Given the description of an element on the screen output the (x, y) to click on. 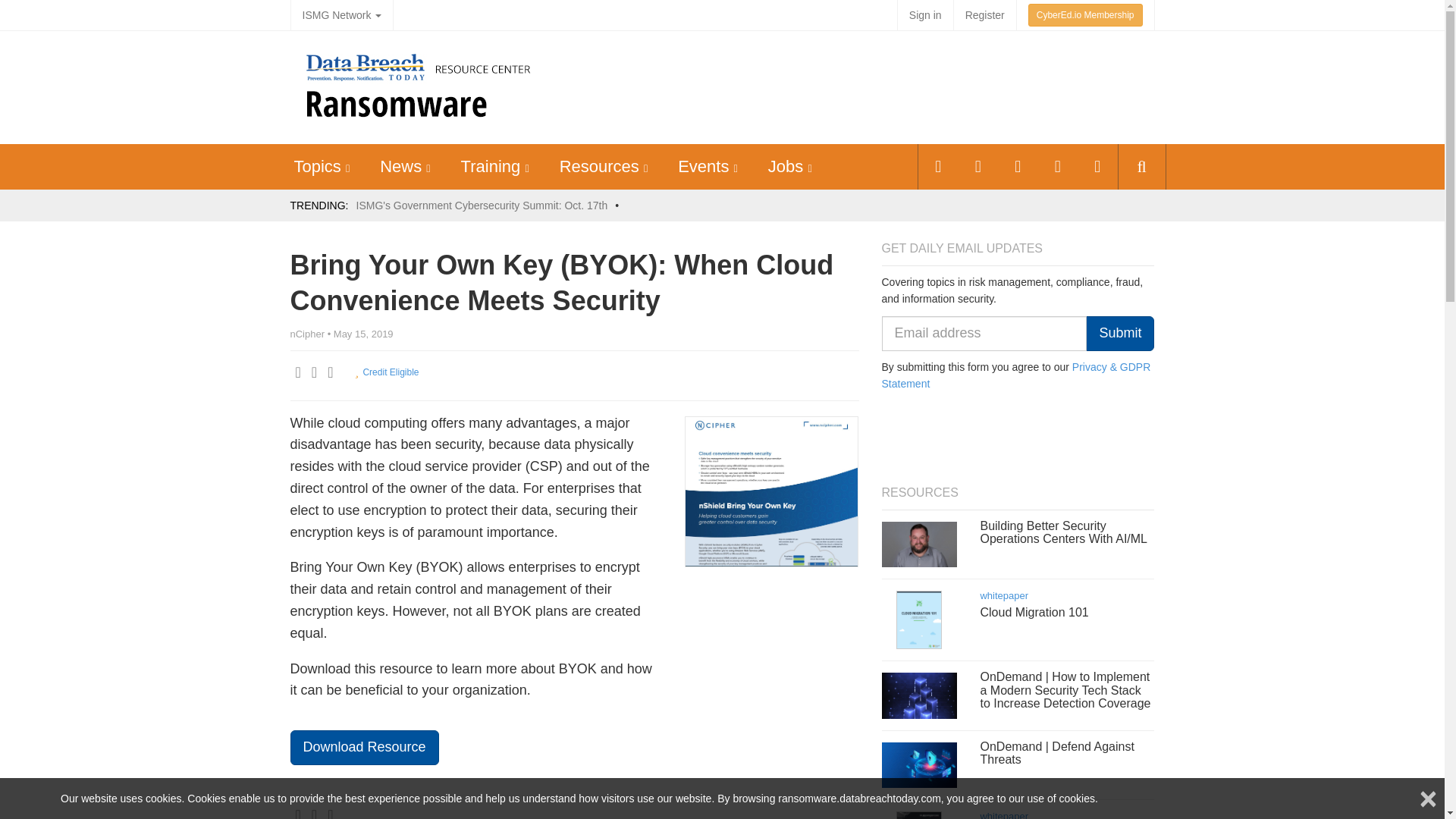
News (401, 166)
ISMG Network (341, 15)
Topics (317, 166)
Sign in (925, 15)
CyberEd.io Membership (1084, 15)
Register (984, 15)
